Given the description of an element on the screen output the (x, y) to click on. 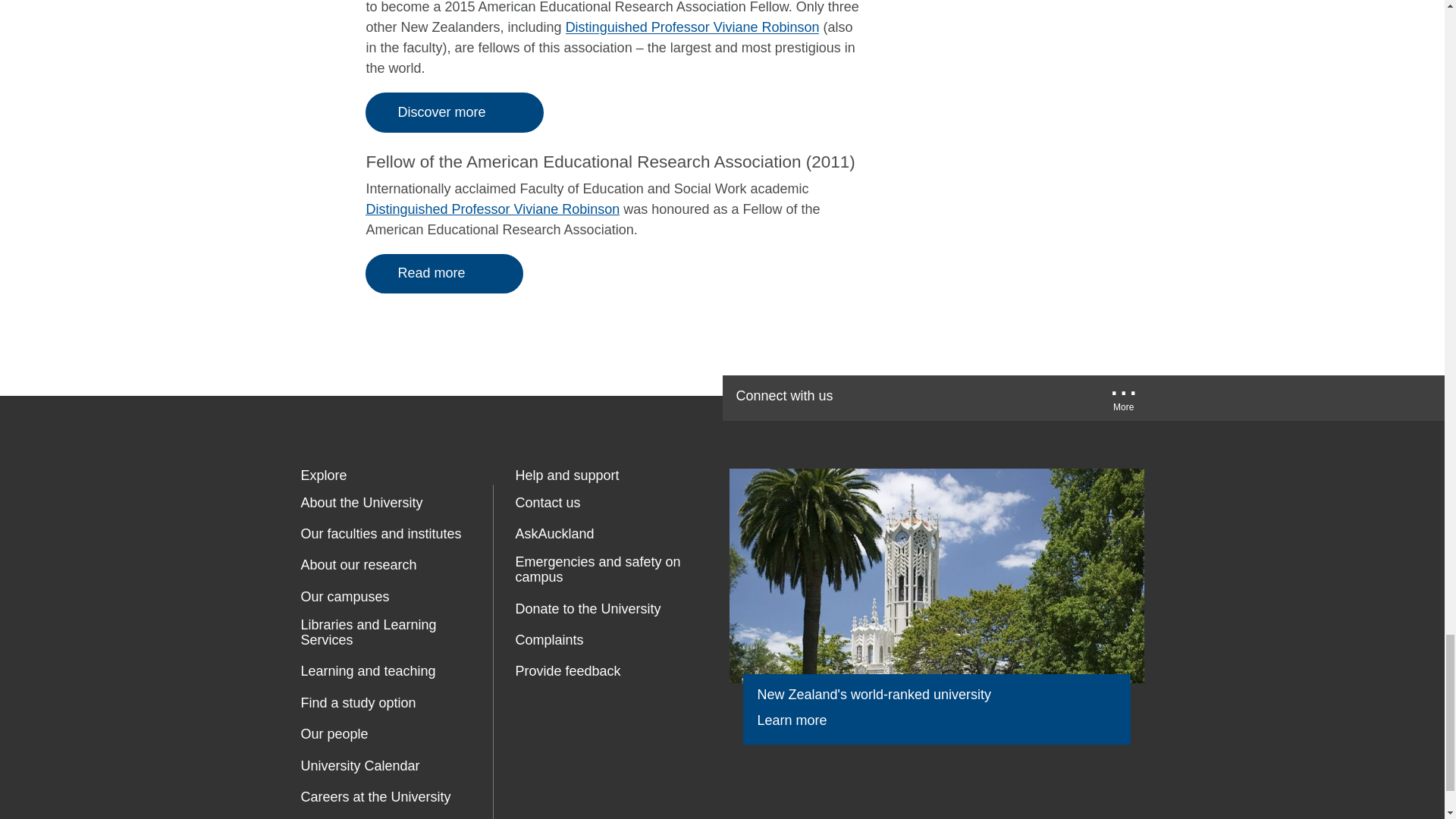
Facebook (876, 397)
Discover more (454, 112)
Twitter (925, 397)
Read more (443, 273)
YouTube (972, 397)
Women's Refuge (528, 735)
Instagram (1069, 397)
University of Auckland More Social... (1123, 402)
LinkedIn (1021, 397)
